Given the description of an element on the screen output the (x, y) to click on. 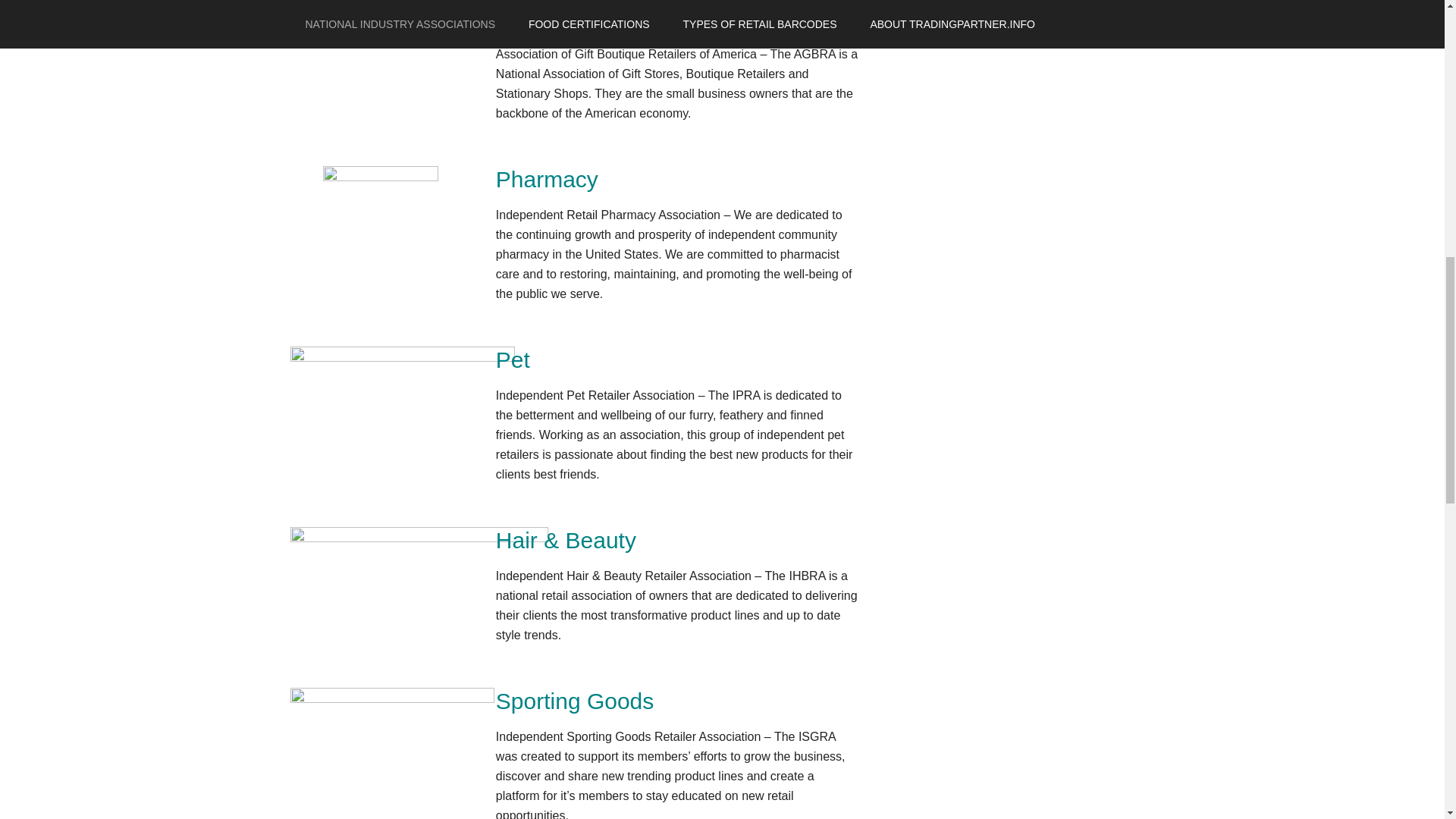
Pet (512, 359)
Gift (513, 18)
Sporting Goods (574, 700)
Pharmacy (547, 179)
